Given the description of an element on the screen output the (x, y) to click on. 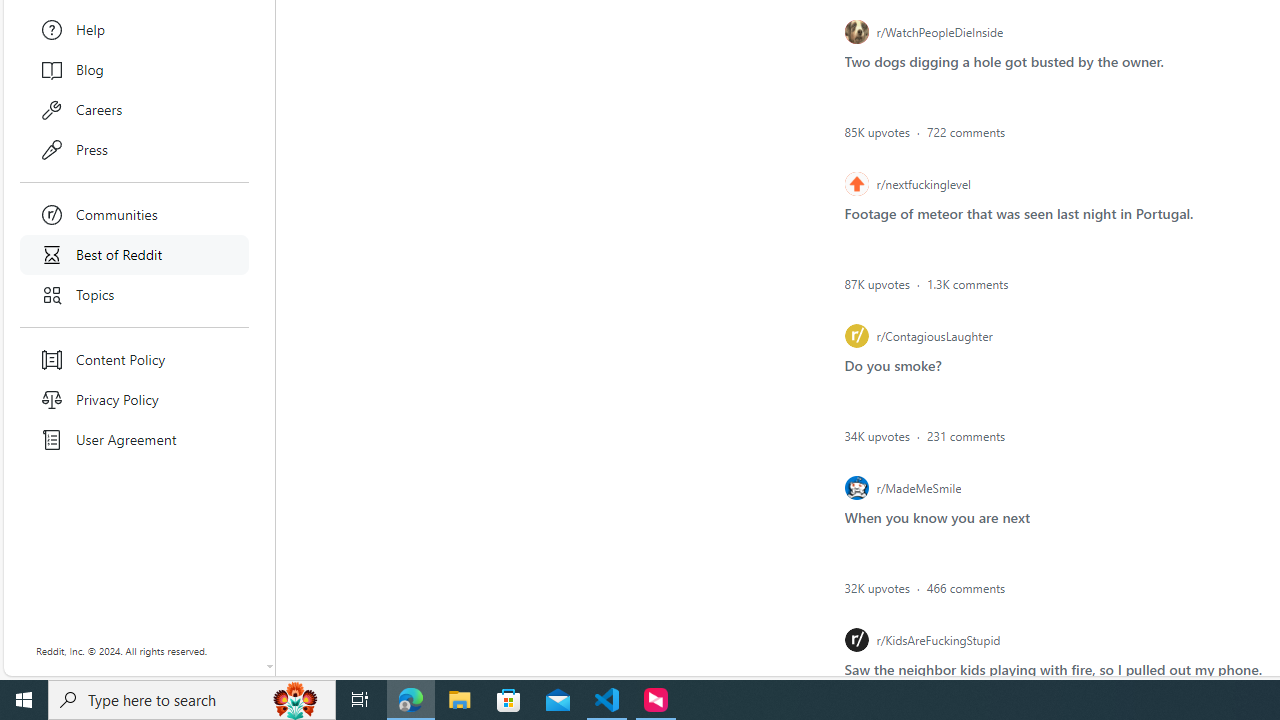
Best of Reddit (134, 254)
Topics (134, 295)
Press (134, 149)
Careers (134, 110)
Communities (134, 214)
List item post - When you know you are next (936, 515)
List item post - Do you smoke? (892, 363)
Blog (134, 69)
Privacy Policy (134, 399)
